Given the description of an element on the screen output the (x, y) to click on. 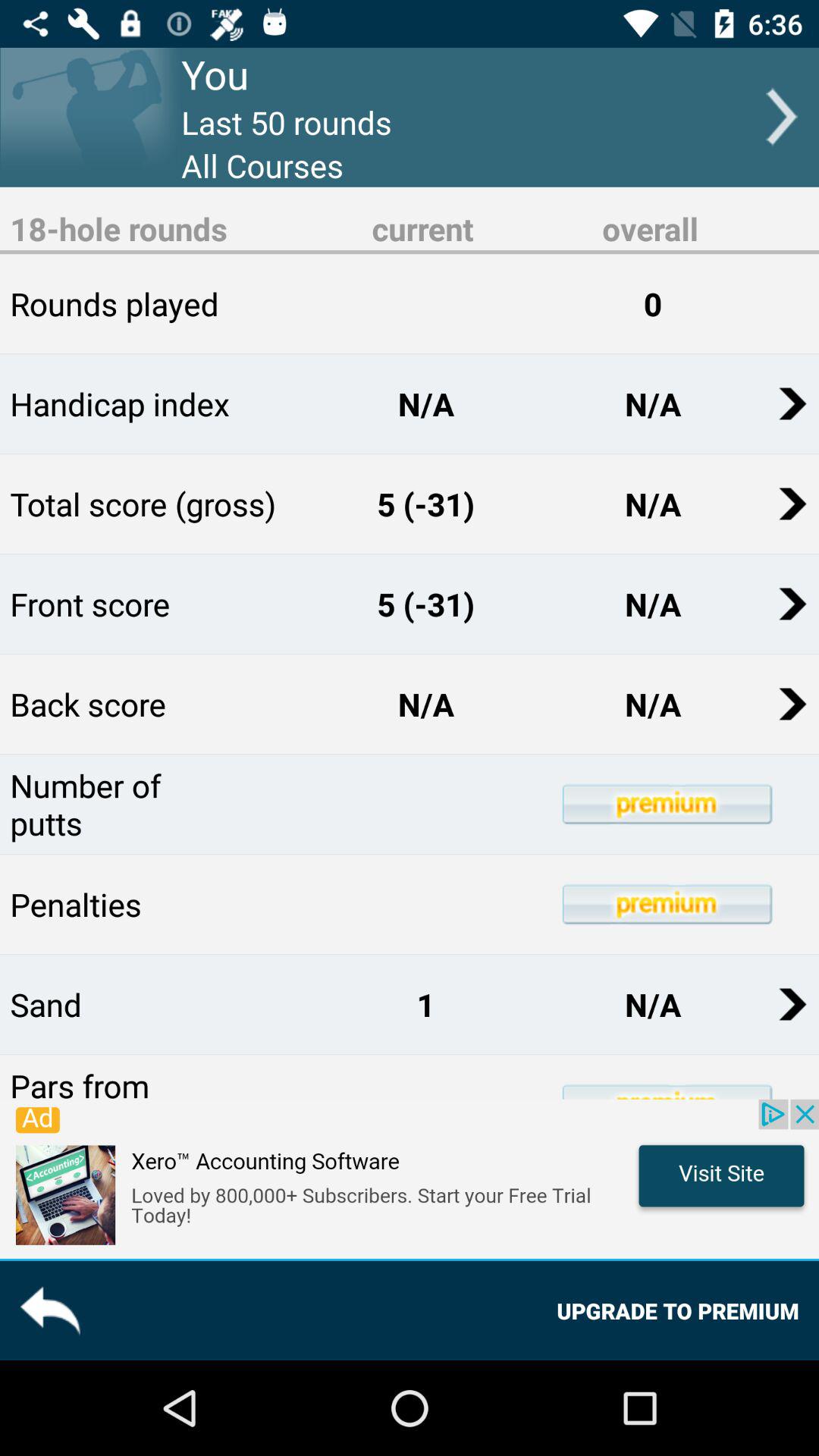
go to previous (49, 1310)
